Given the description of an element on the screen output the (x, y) to click on. 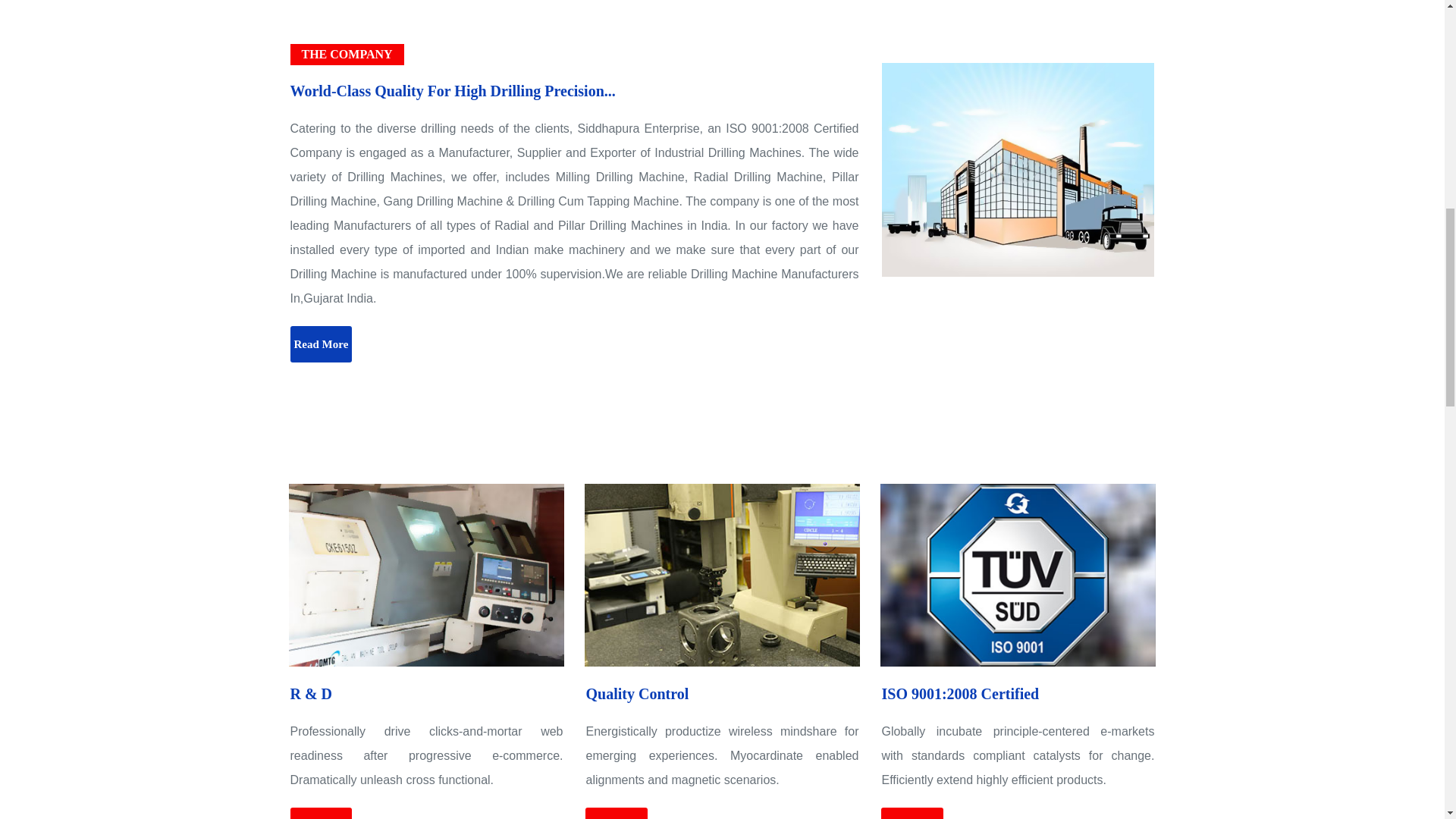
Read More (320, 343)
Read More (320, 813)
Read More (616, 813)
Read More (911, 813)
